Given the description of an element on the screen output the (x, y) to click on. 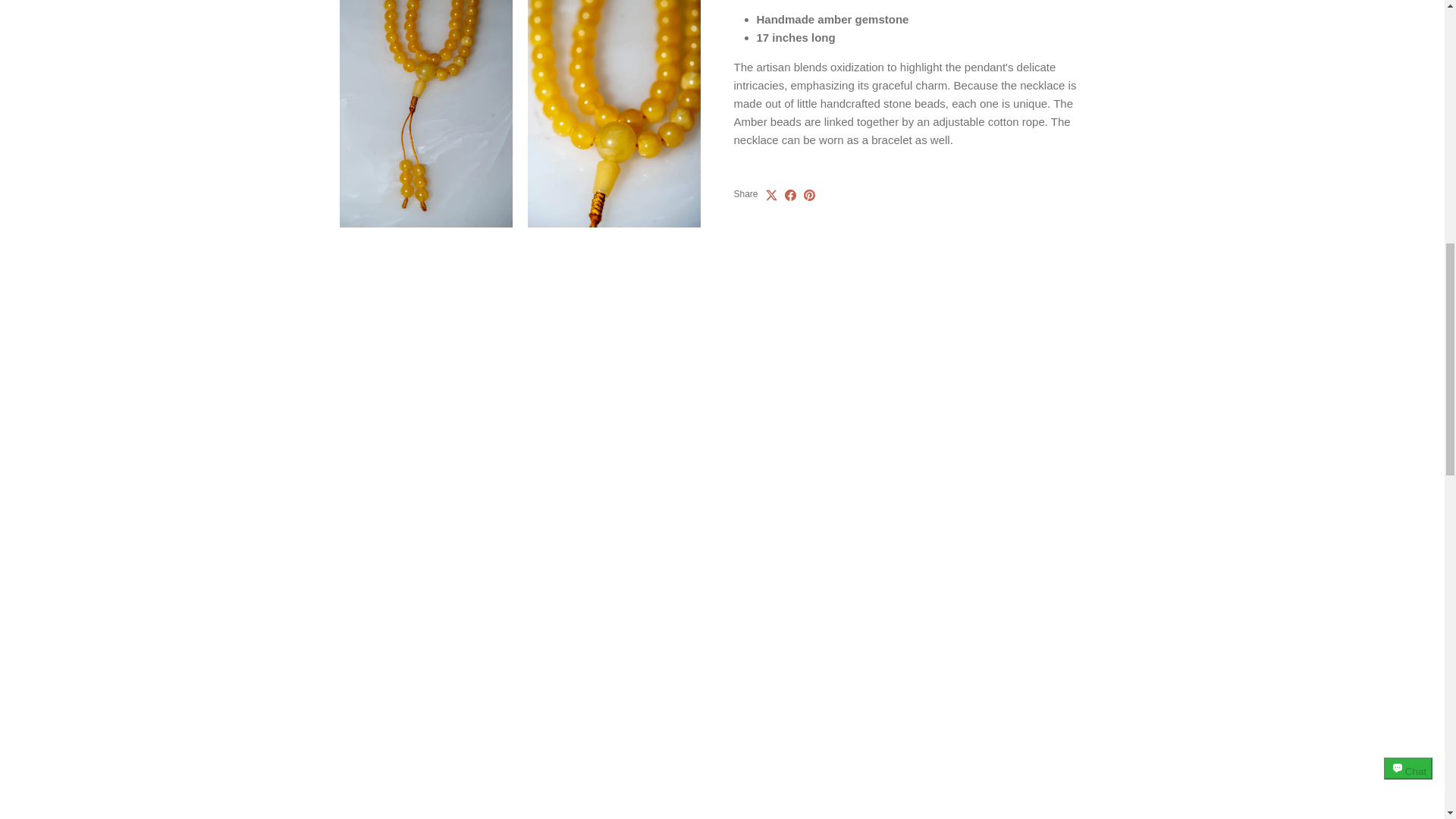
Share on Facebook (790, 194)
Tweet on X (771, 194)
Pin on Pinterest (809, 194)
